Given the description of an element on the screen output the (x, y) to click on. 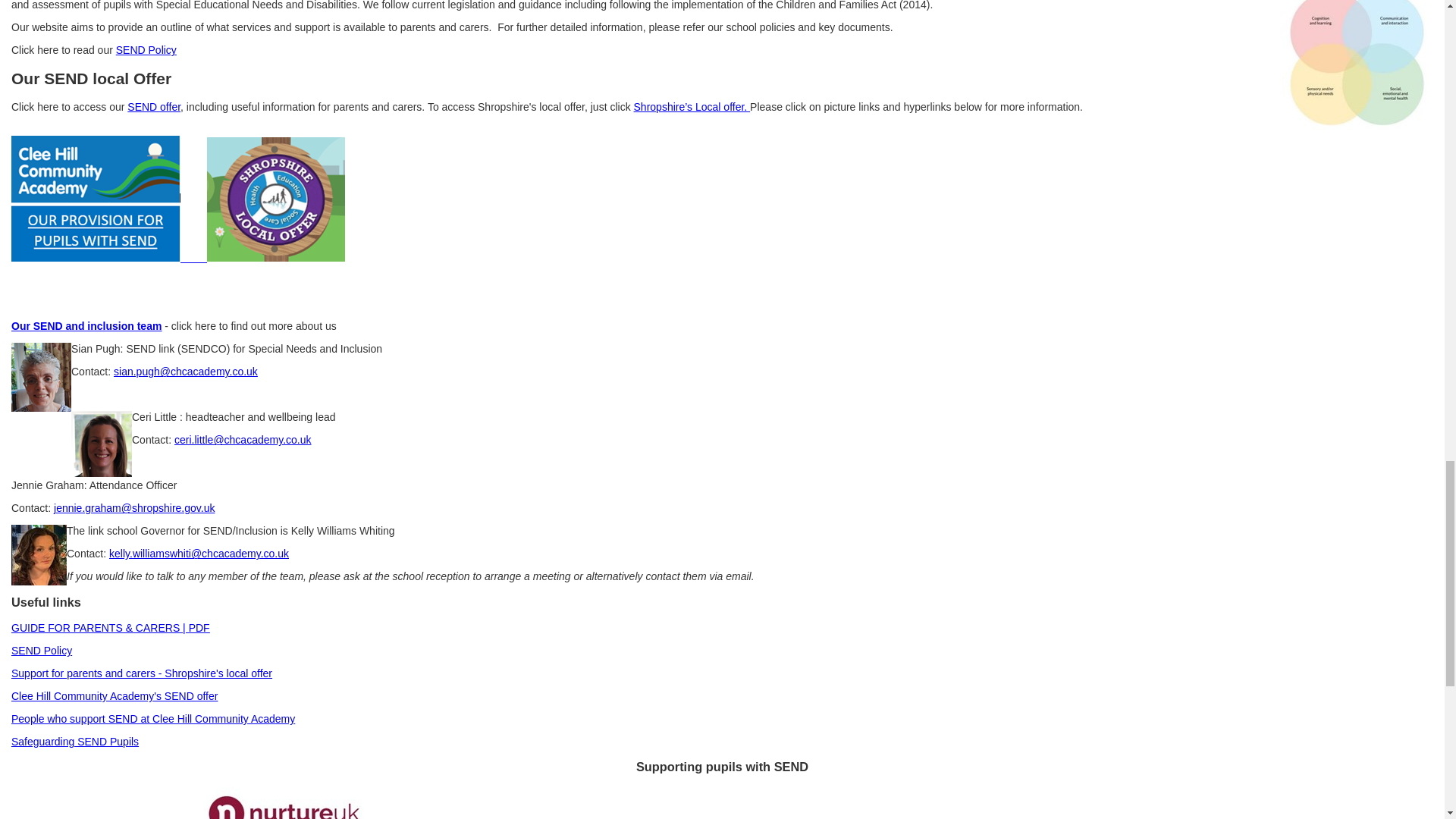
SEND.PNG (108, 257)
CHCA SEND offer updated.pdf (113, 695)
Shropshire SEND.PNG (275, 257)
CHCA SEND offer.pdf (154, 106)
